Given the description of an element on the screen output the (x, y) to click on. 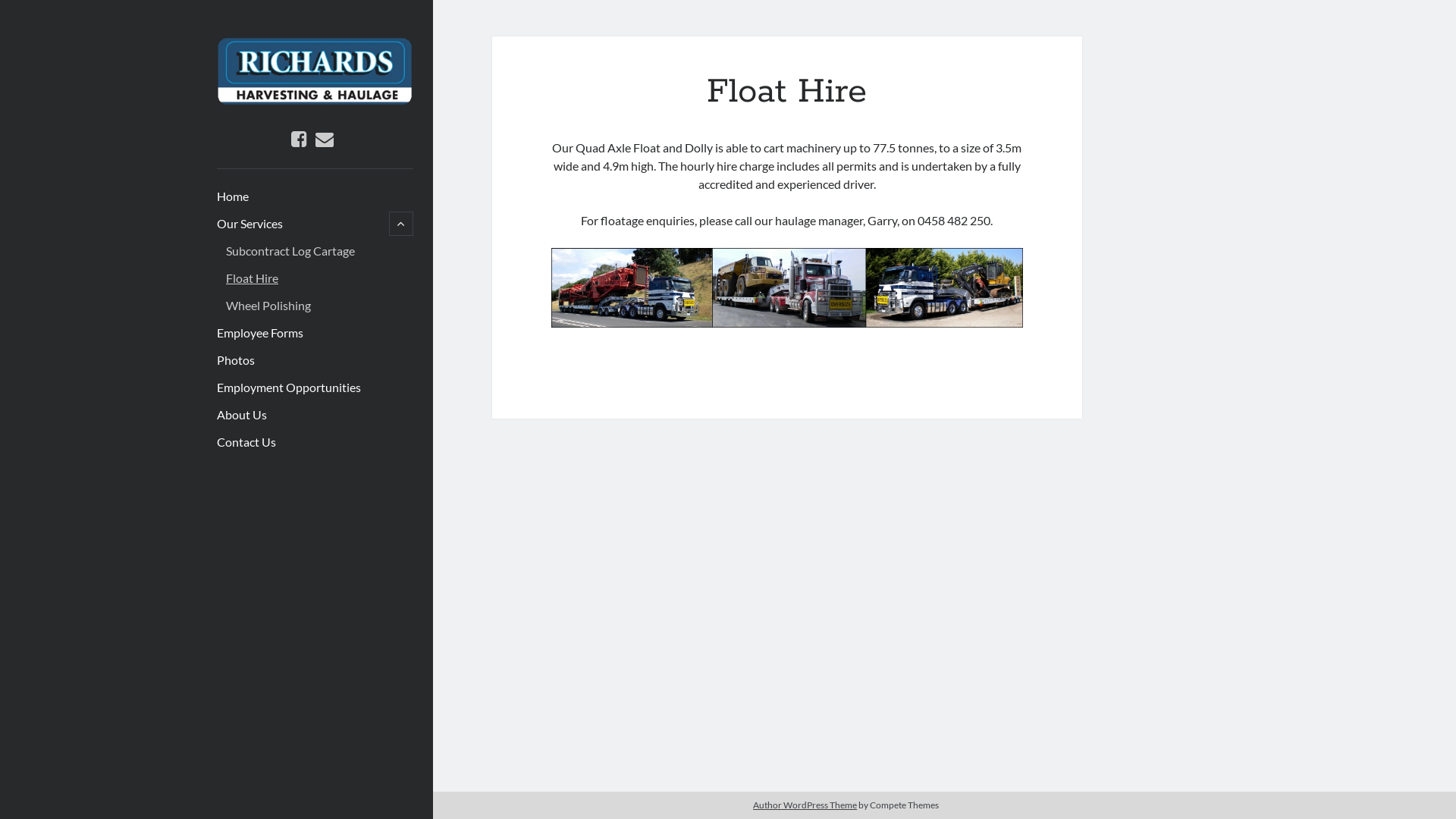
Photos Element type: text (235, 360)
Subcontract Log Cartage Element type: text (289, 250)
Wheel Polishing Element type: text (267, 305)
Employment Opportunities Element type: text (288, 387)
email Element type: hover (324, 139)
About Us Element type: text (241, 414)
Richards Harvesting & Haulage Element type: text (314, 100)
Author WordPress Theme Element type: text (804, 804)
facebook Element type: hover (299, 139)
facebook Element type: text (299, 138)
open child menu Element type: text (401, 223)
Employee Forms Element type: text (259, 332)
email Element type: text (324, 138)
Float Hire Element type: text (251, 278)
Home Element type: text (232, 196)
Contact Us Element type: text (246, 442)
Our Services Element type: text (249, 223)
